Given the description of an element on the screen output the (x, y) to click on. 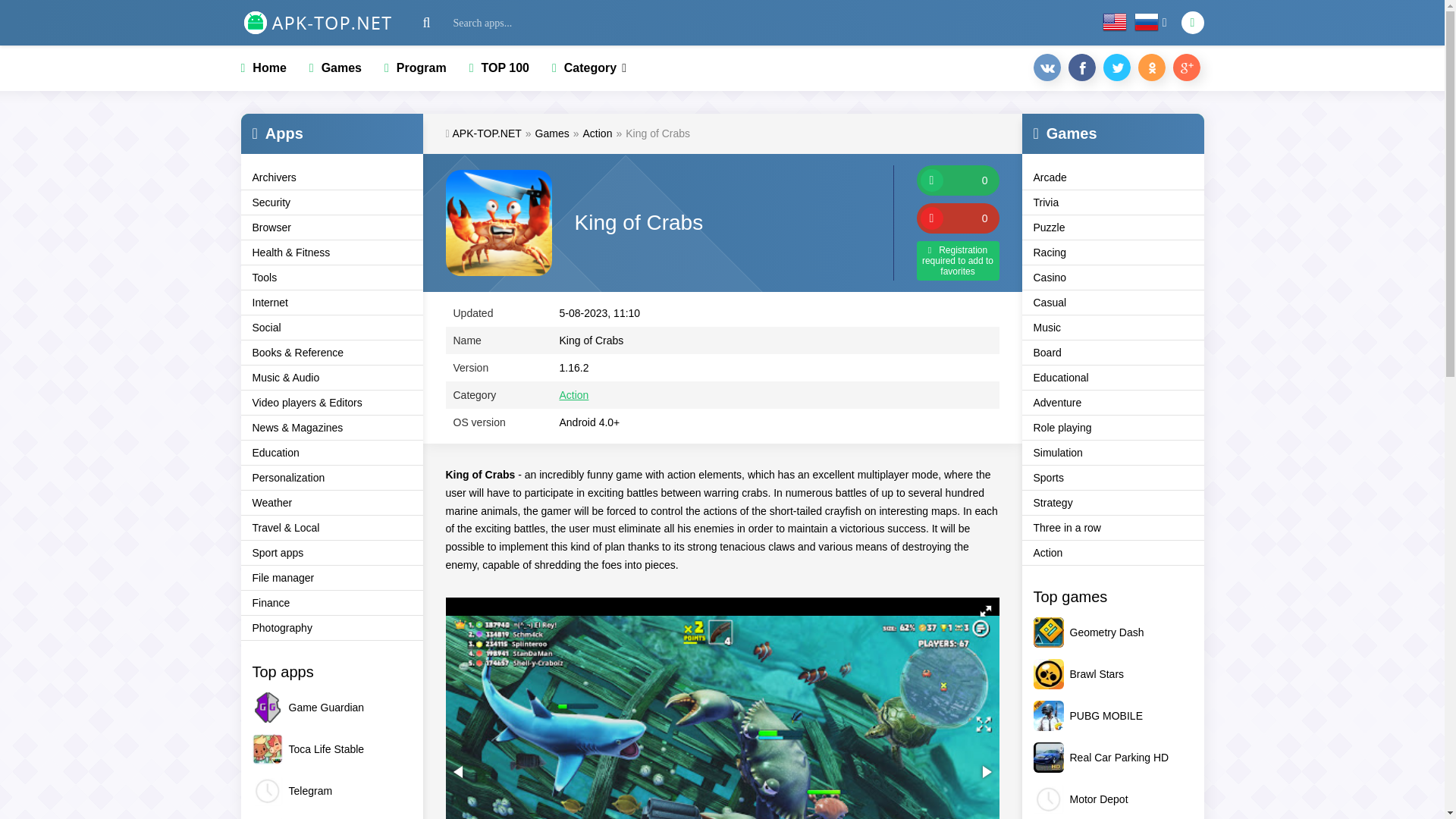
Tools (332, 277)
Program (415, 67)
Social (332, 327)
Sport apps (332, 552)
Internet (332, 302)
Education (332, 453)
Finance (332, 602)
TOP 100 (498, 67)
Browser (332, 227)
Personalization (332, 478)
Home (263, 67)
File manager (332, 577)
Weather (332, 502)
Download action games for android (597, 133)
A selection of the best games for your Android smartphone (552, 133)
